Given the description of an element on the screen output the (x, y) to click on. 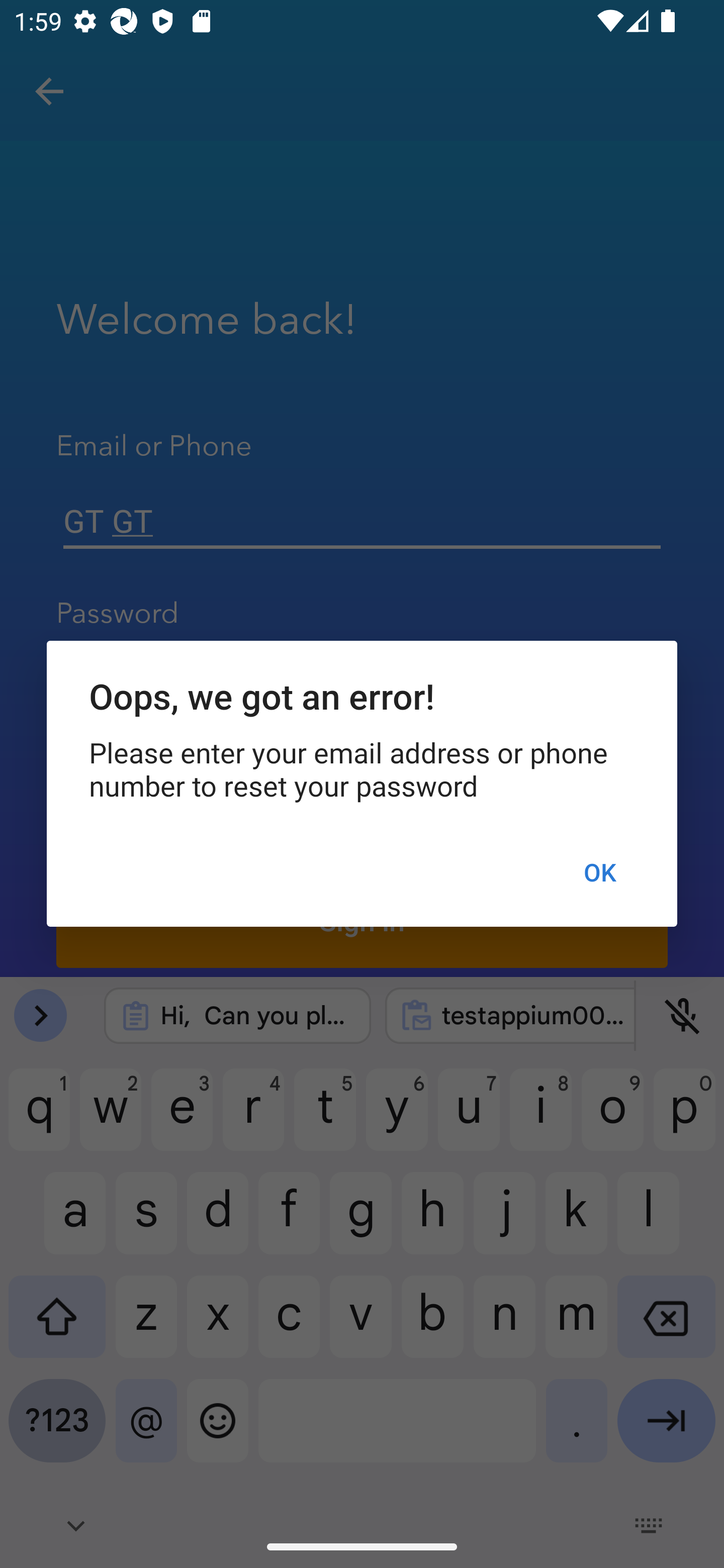
OK (599, 872)
